Given the description of an element on the screen output the (x, y) to click on. 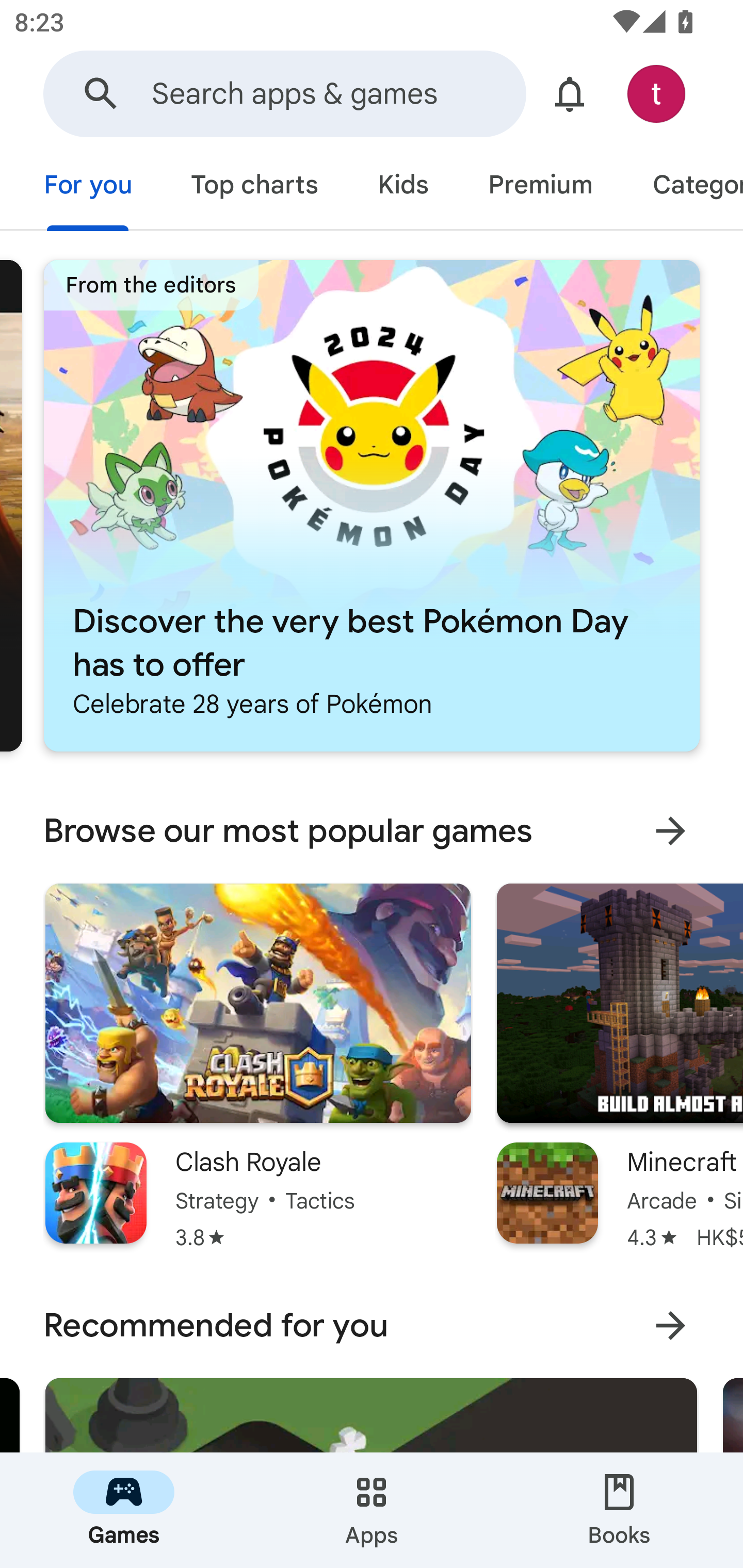
Search Google Play Search apps & games (284, 93)
Search Google Play (100, 93)
Show notifications and offers. (569, 93)
Top charts (254, 187)
Kids (402, 187)
Premium (540, 187)
Categories (682, 187)
More results for Browse our most popular games (670, 830)
Clash Royale
Strategy
Tactics
Star rating: 3.8
 (258, 1066)
More results for Recommended for you (670, 1325)
Apps (371, 1509)
Books (619, 1509)
